Given the description of an element on the screen output the (x, y) to click on. 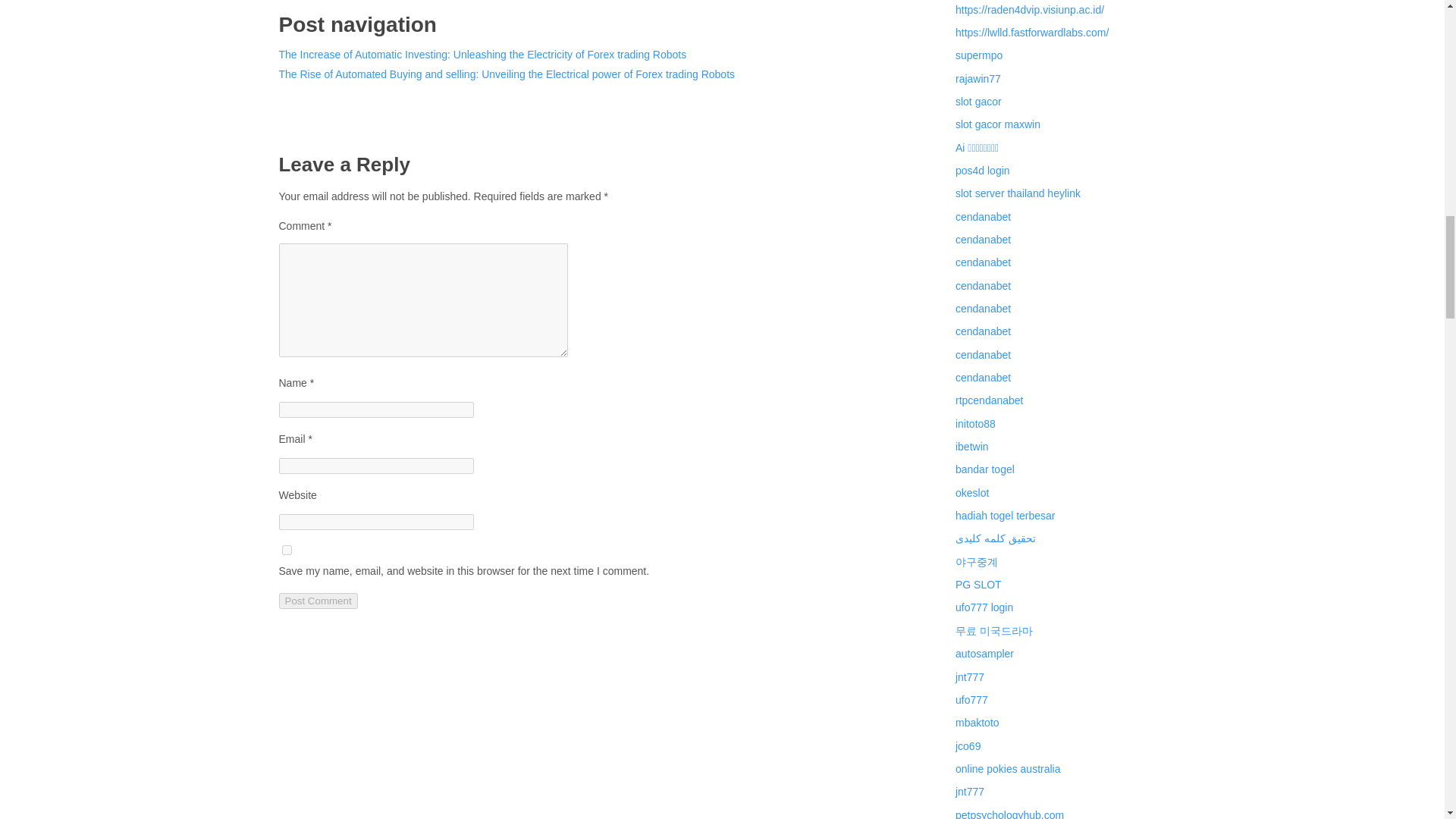
yes (287, 550)
Post Comment (318, 600)
Post Comment (318, 600)
